Given the description of an element on the screen output the (x, y) to click on. 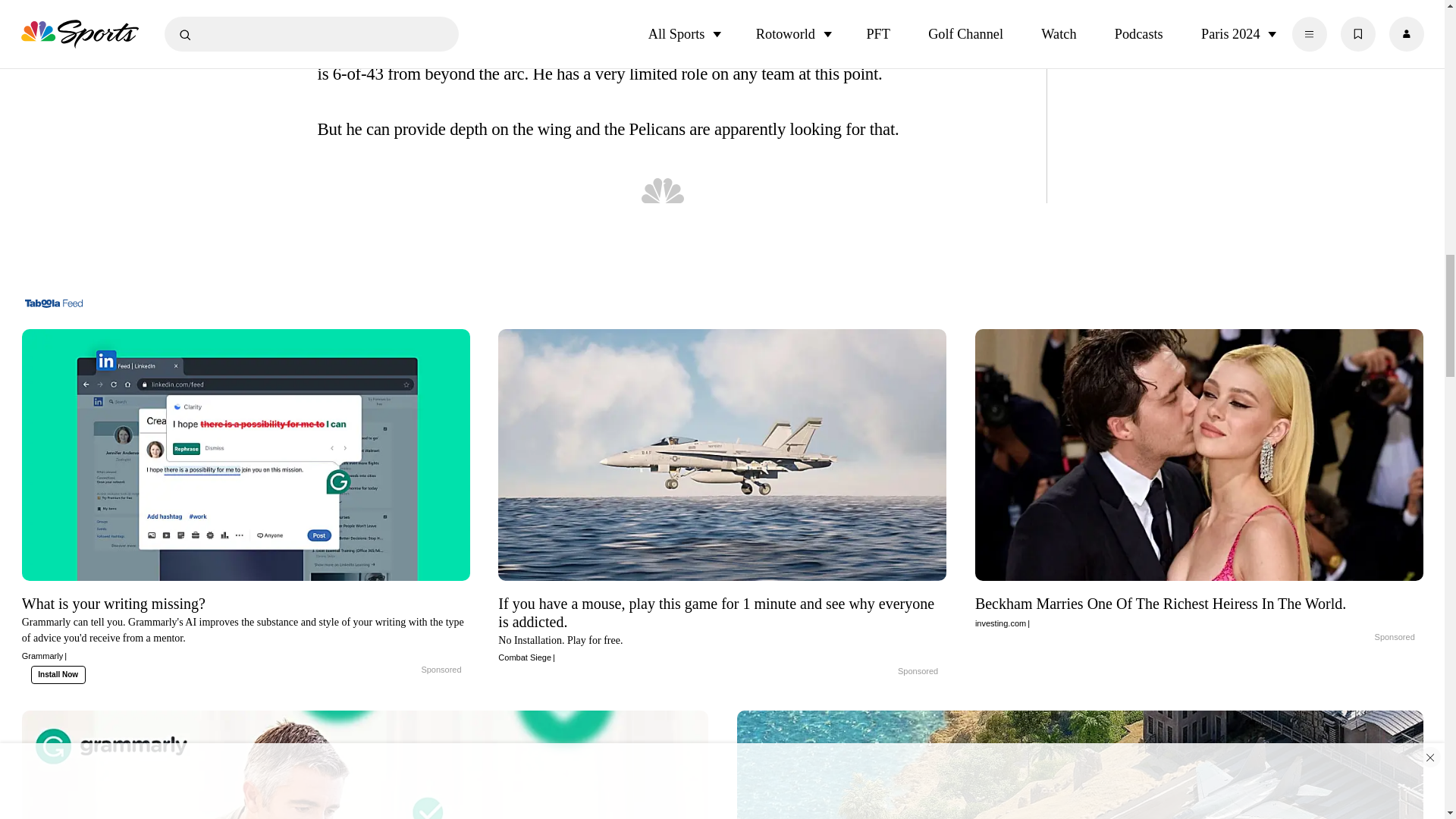
What is your writing missing? (245, 627)
Beckham Marries One Of The Richest Heiress In The World. (1199, 610)
What is your writing missing? (404, 670)
Beckham Marries One Of The Richest Heiress In The World. (1359, 637)
